Given the description of an element on the screen output the (x, y) to click on. 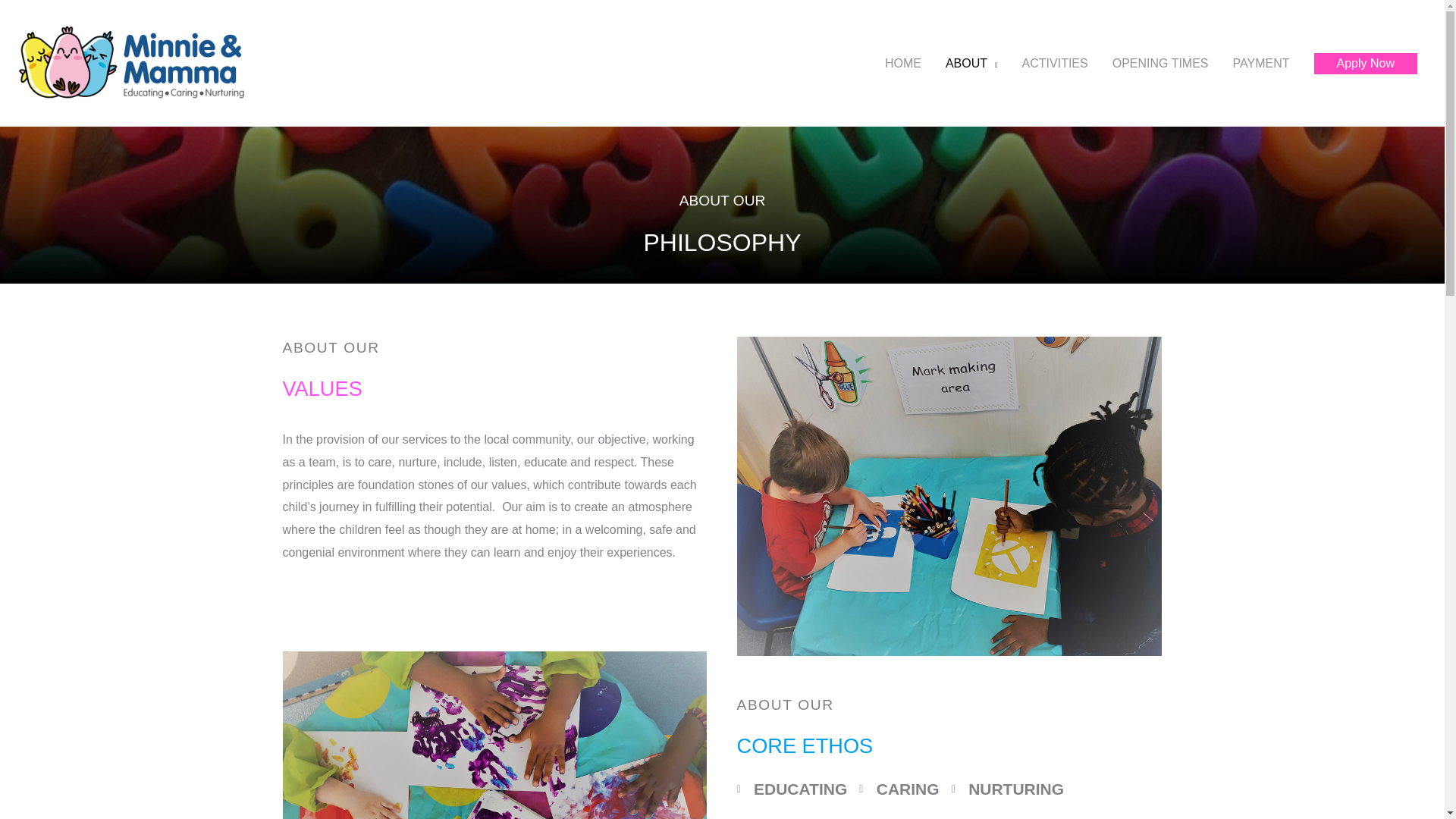
OPENING TIMES (1160, 63)
PAYMENT (1261, 63)
ABOUT (971, 63)
HOME (902, 63)
Apply Now (1365, 63)
ACTIVITIES (1055, 63)
